Given the description of an element on the screen output the (x, y) to click on. 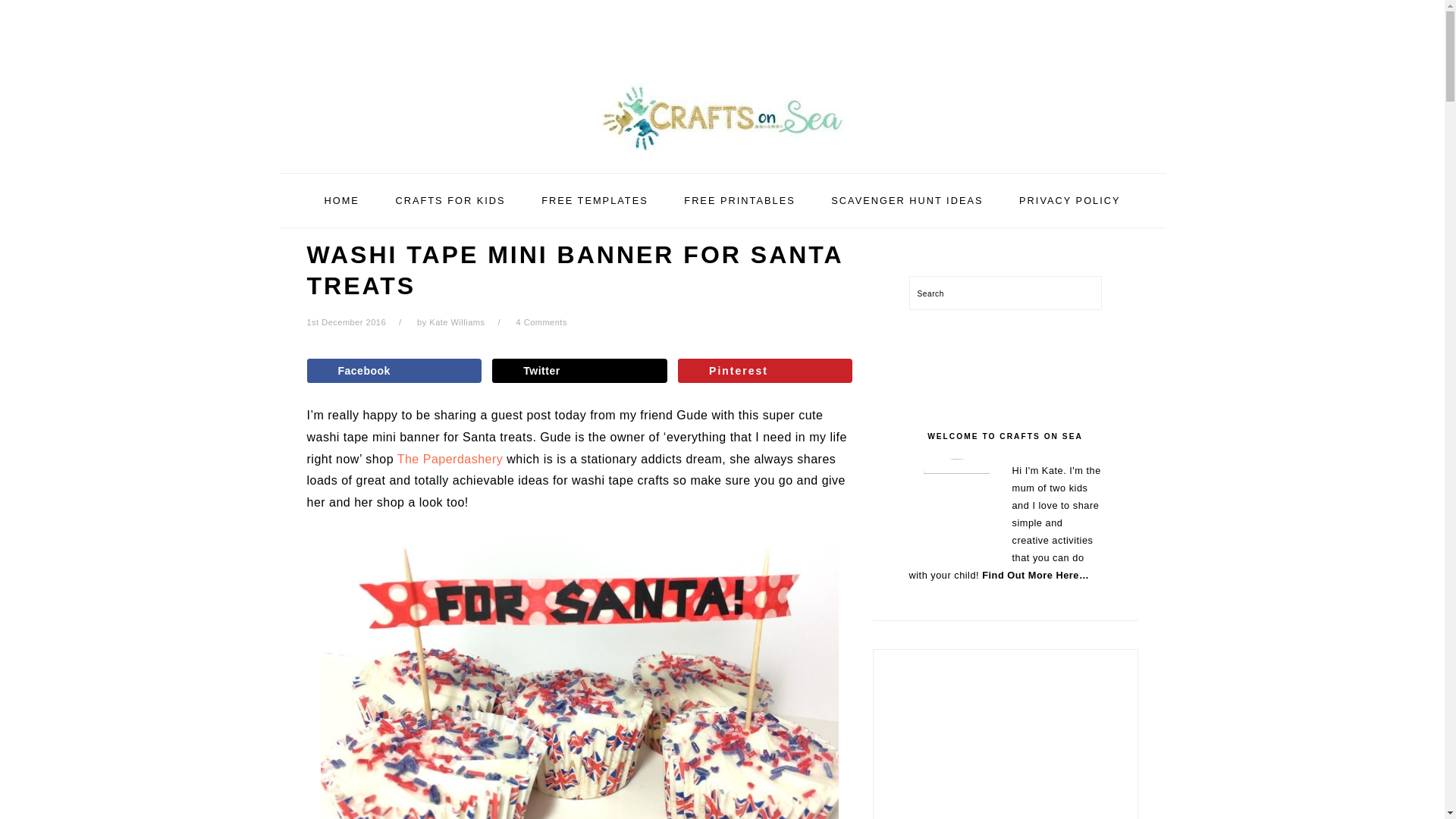
PRIVACY POLICY (1070, 200)
SCAVENGER HUNT IDEAS (906, 200)
Share on Facebook (392, 370)
FREE PRINTABLES (739, 200)
Save to Pinterest (764, 370)
Crafts on Sea (721, 117)
FREE TEMPLATES (594, 200)
Crafts on Sea (721, 155)
CRAFTS FOR KIDS (449, 200)
